Given the description of an element on the screen output the (x, y) to click on. 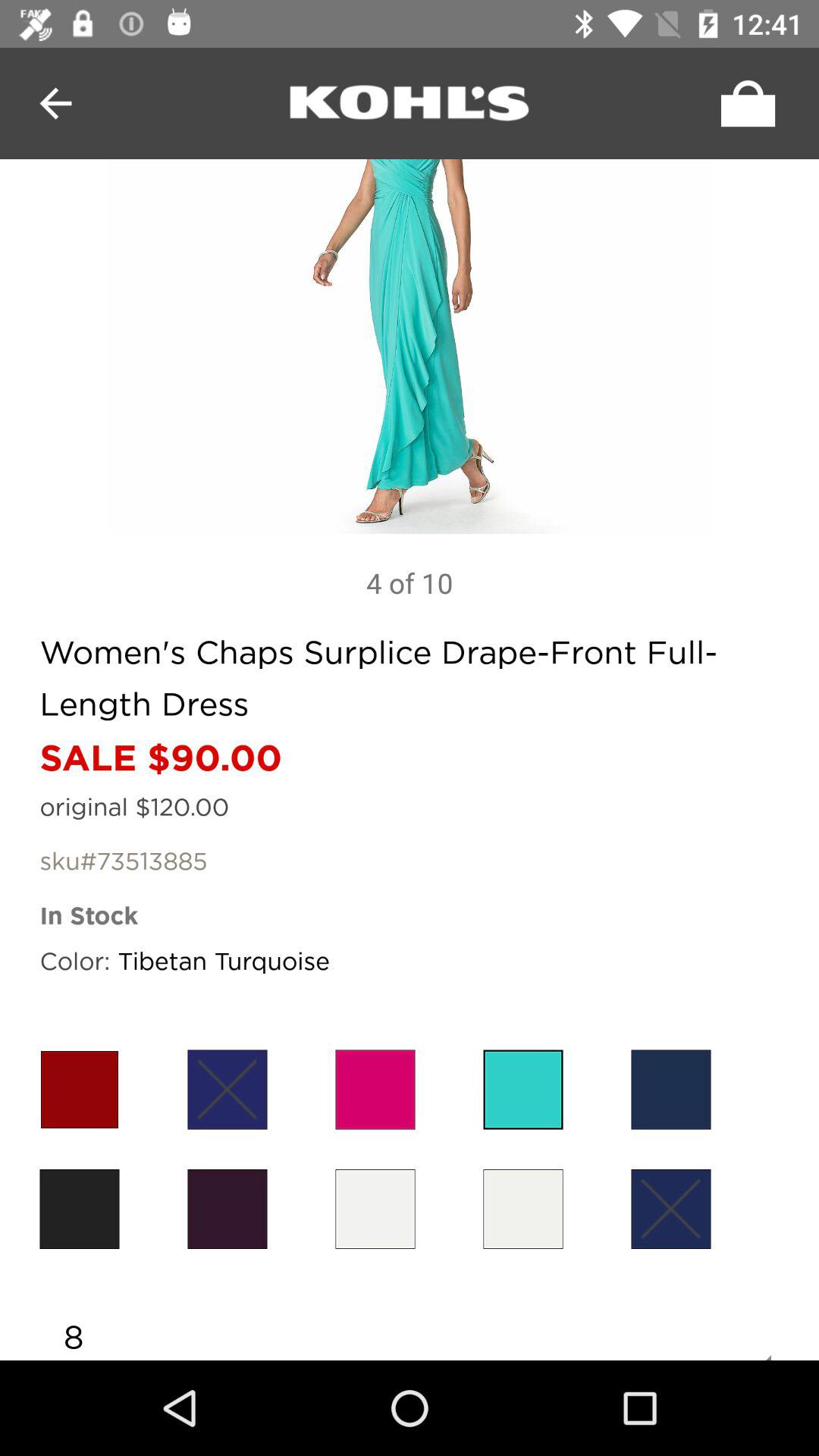
press the icon above 8 (670, 1208)
